Given the description of an element on the screen output the (x, y) to click on. 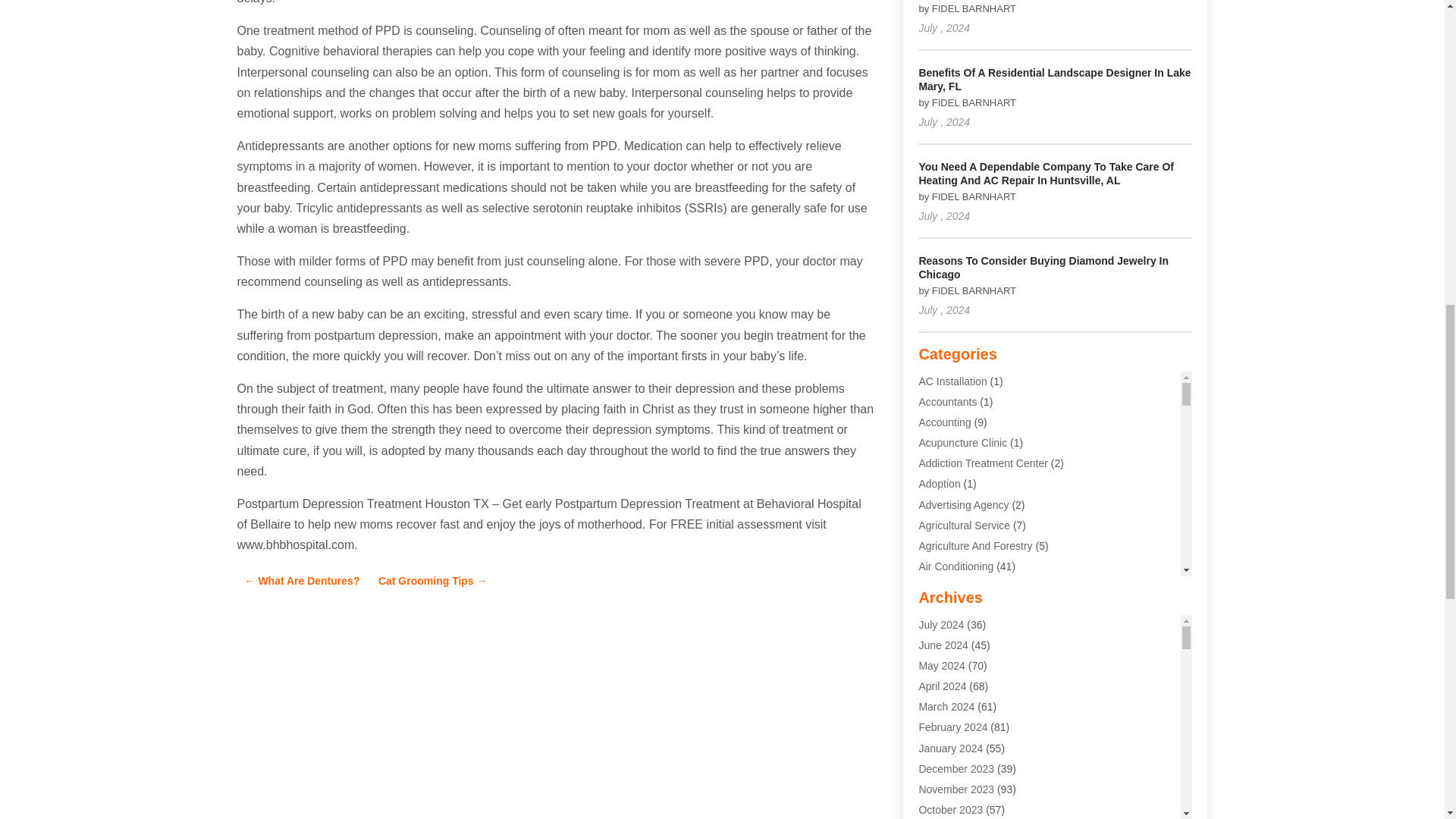
Advertising Agency (963, 504)
Air Conditioning Repair Service (991, 607)
Air Conditioning Contractor (981, 586)
Air Duct Cleaning Service (978, 628)
Air Conditioning (955, 566)
Reasons To Consider Buying Diamond Jewelry In Chicago (1043, 267)
Accountants (947, 401)
Air Quality Control System (980, 648)
Acupuncture Clinic (962, 442)
Addiction Treatment Center (982, 463)
Agricultural Service (964, 525)
Agriculture And Forestry (975, 545)
AC Installation (952, 381)
